Given the description of an element on the screen output the (x, y) to click on. 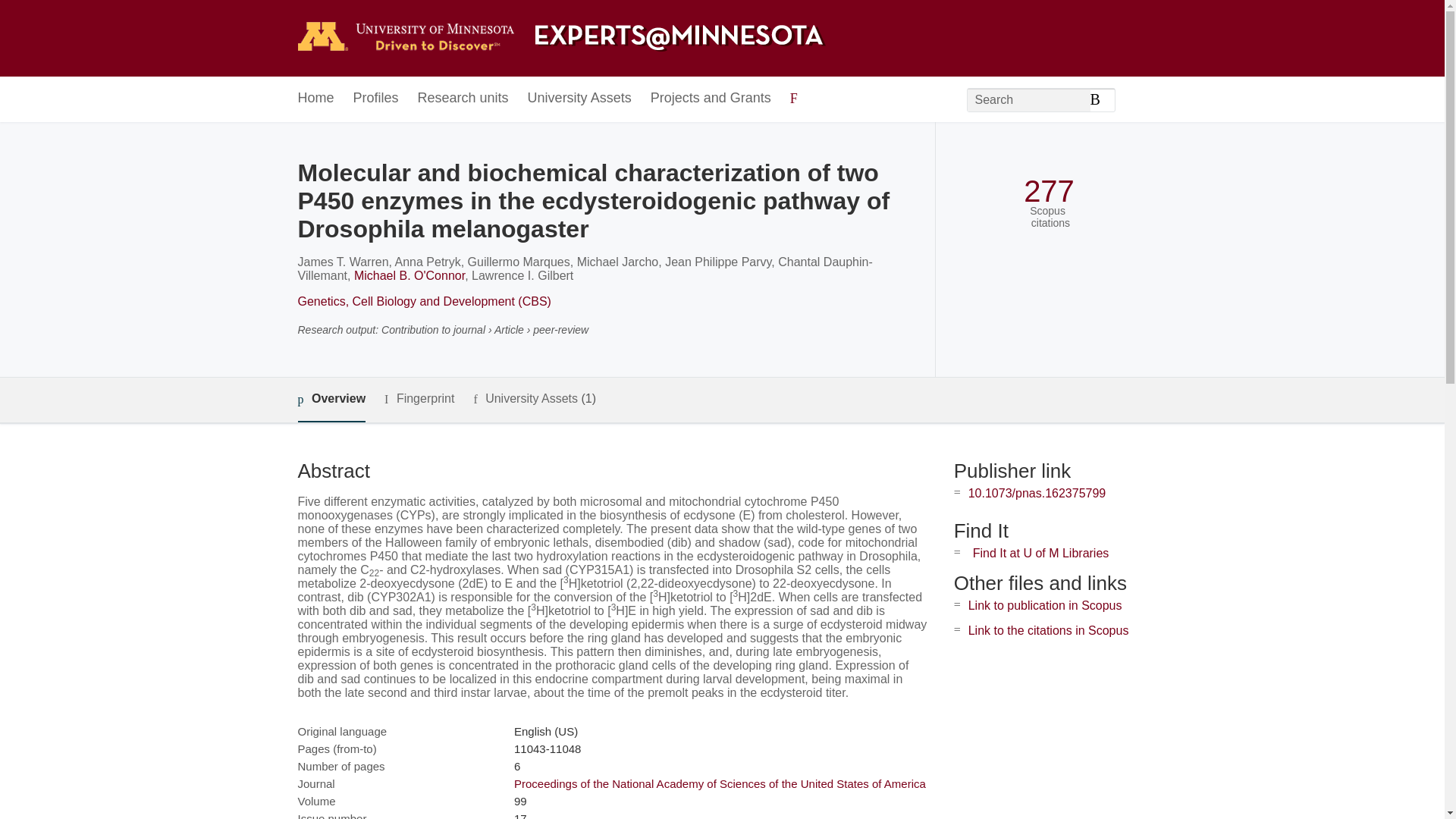
Overview (331, 399)
Link to the citations in Scopus (1048, 630)
Profiles (375, 98)
Michael B. O'Connor (408, 275)
Find It at U of M Libraries (1040, 553)
277 (1048, 191)
Research units (462, 98)
University Assets (579, 98)
Projects and Grants (710, 98)
Fingerprint (419, 398)
Link to publication in Scopus (1045, 604)
